Given the description of an element on the screen output the (x, y) to click on. 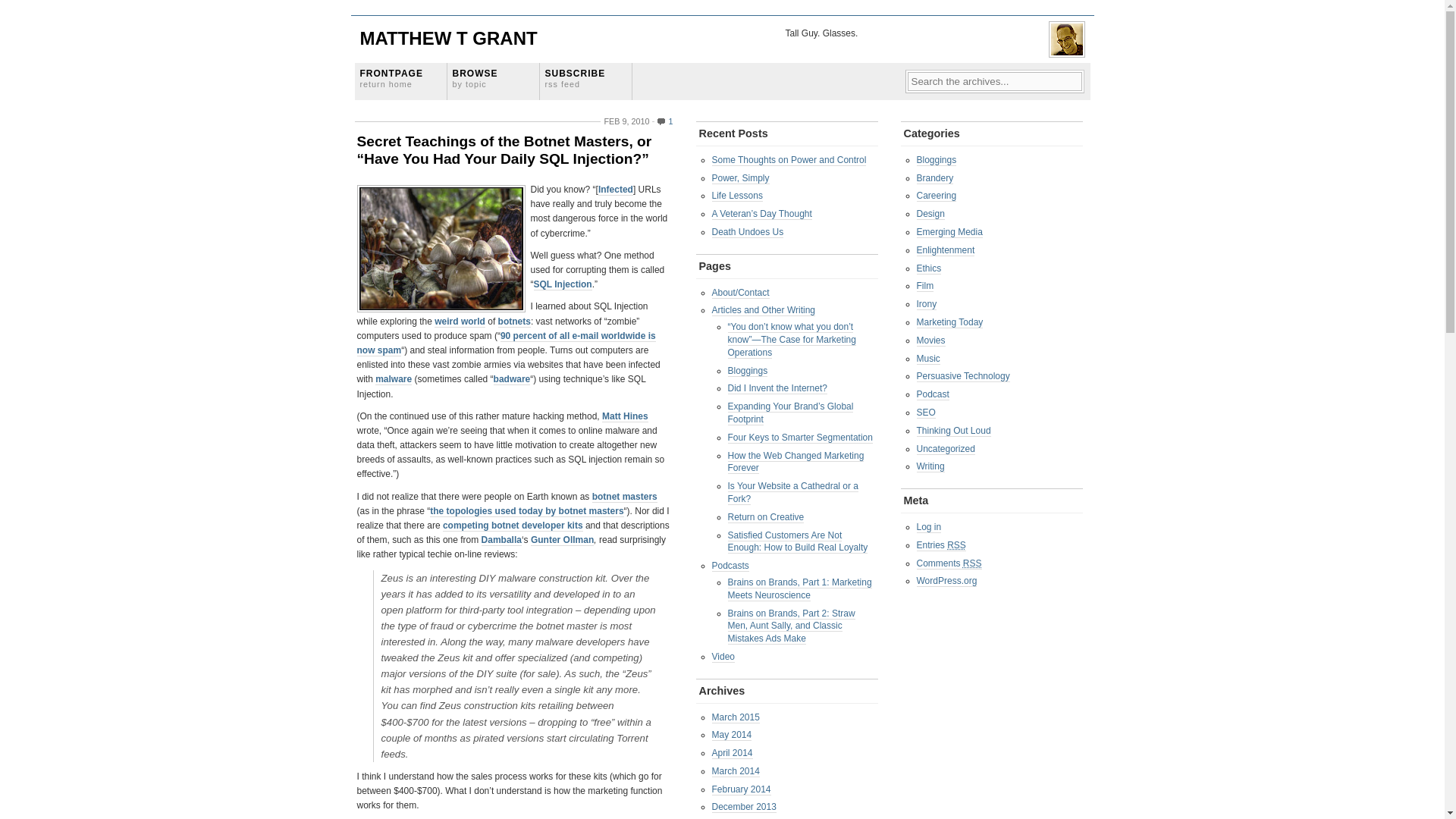
Return to the the frontpage (400, 81)
competing botnet developer kits (512, 525)
Show categories (492, 81)
Infected (615, 189)
Subscribe to the main feed via RSS (585, 81)
weird world (492, 81)
Damballa (458, 321)
badware (501, 540)
90 percent of all e-mail worldwide is now spam (512, 378)
